Given the description of an element on the screen output the (x, y) to click on. 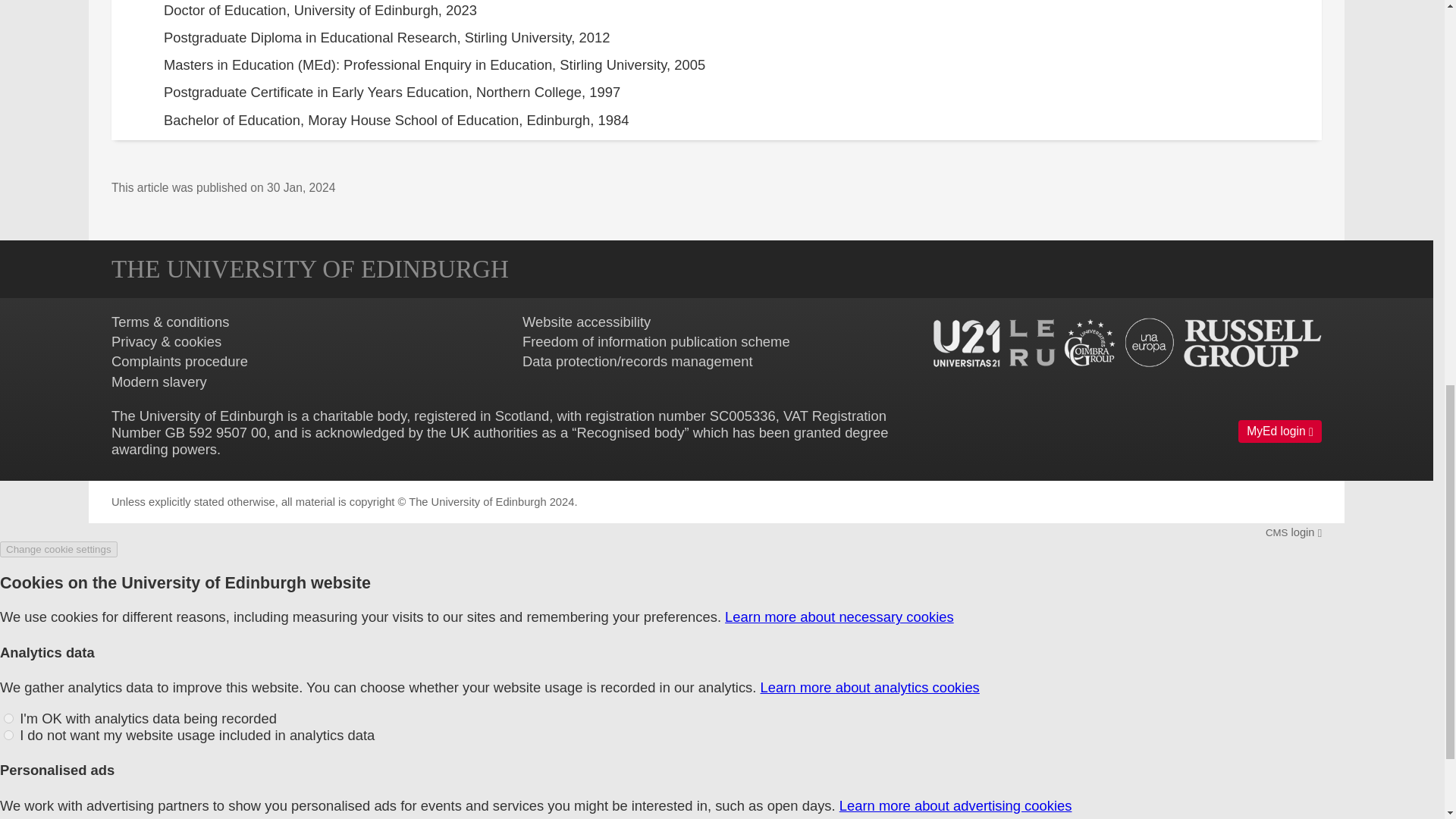
Recognised body (630, 432)
CMS login (1293, 532)
Freedom of information publication scheme (656, 341)
Modern slavery (159, 381)
Complaints procedure (179, 360)
MyEd login (1280, 431)
Website accessibility (586, 321)
